Given the description of an element on the screen output the (x, y) to click on. 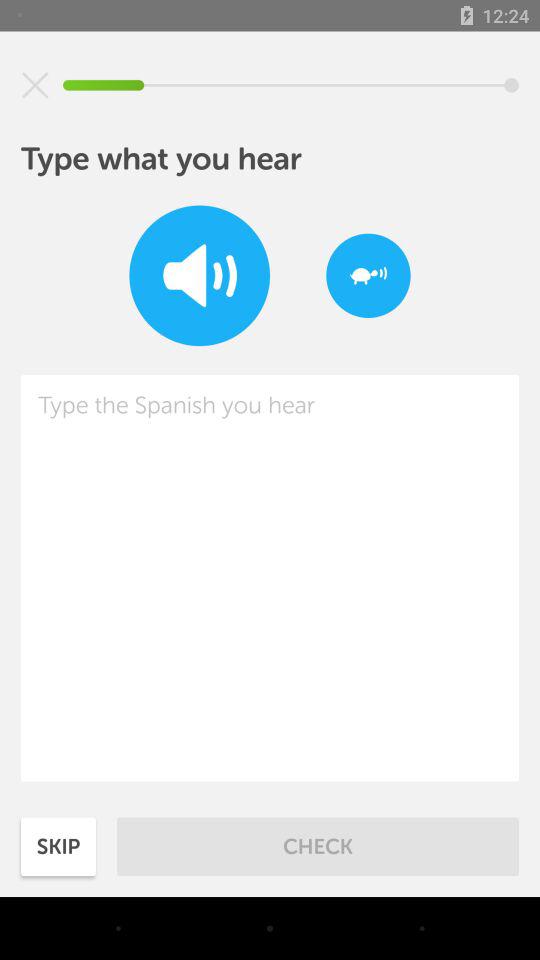
turn on item at the top right corner (368, 275)
